Given the description of an element on the screen output the (x, y) to click on. 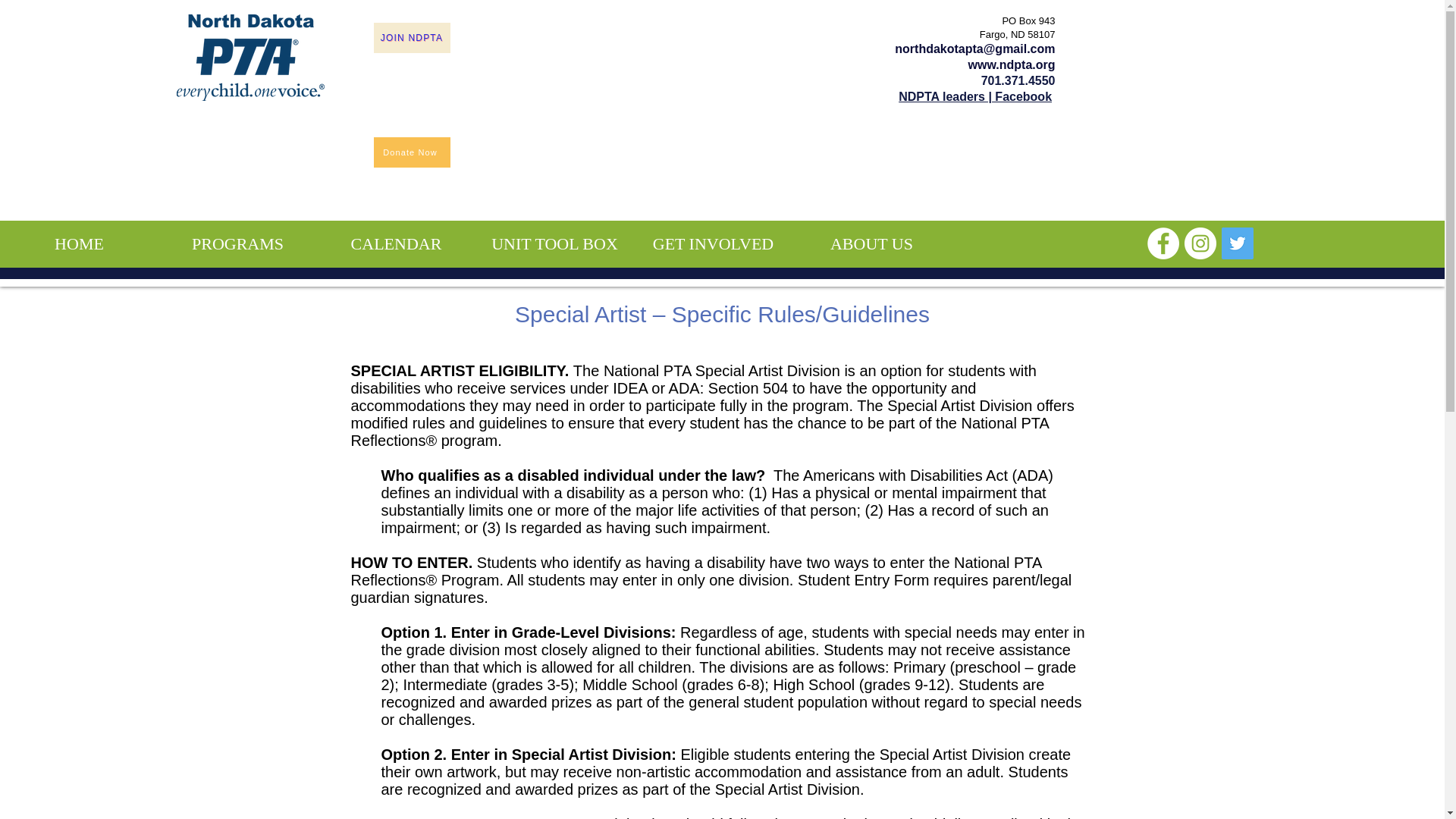
www.ndpta.org (1011, 64)
Donate Now (410, 152)
HOME (79, 243)
PROGRAMS (237, 243)
ABOUT US (871, 243)
NDPTA Logo blue.png (249, 57)
UNIT TOOL BOX (554, 243)
CALENDAR (396, 243)
JOIN NDPTA (410, 37)
GET INVOLVED (712, 243)
